Given the description of an element on the screen output the (x, y) to click on. 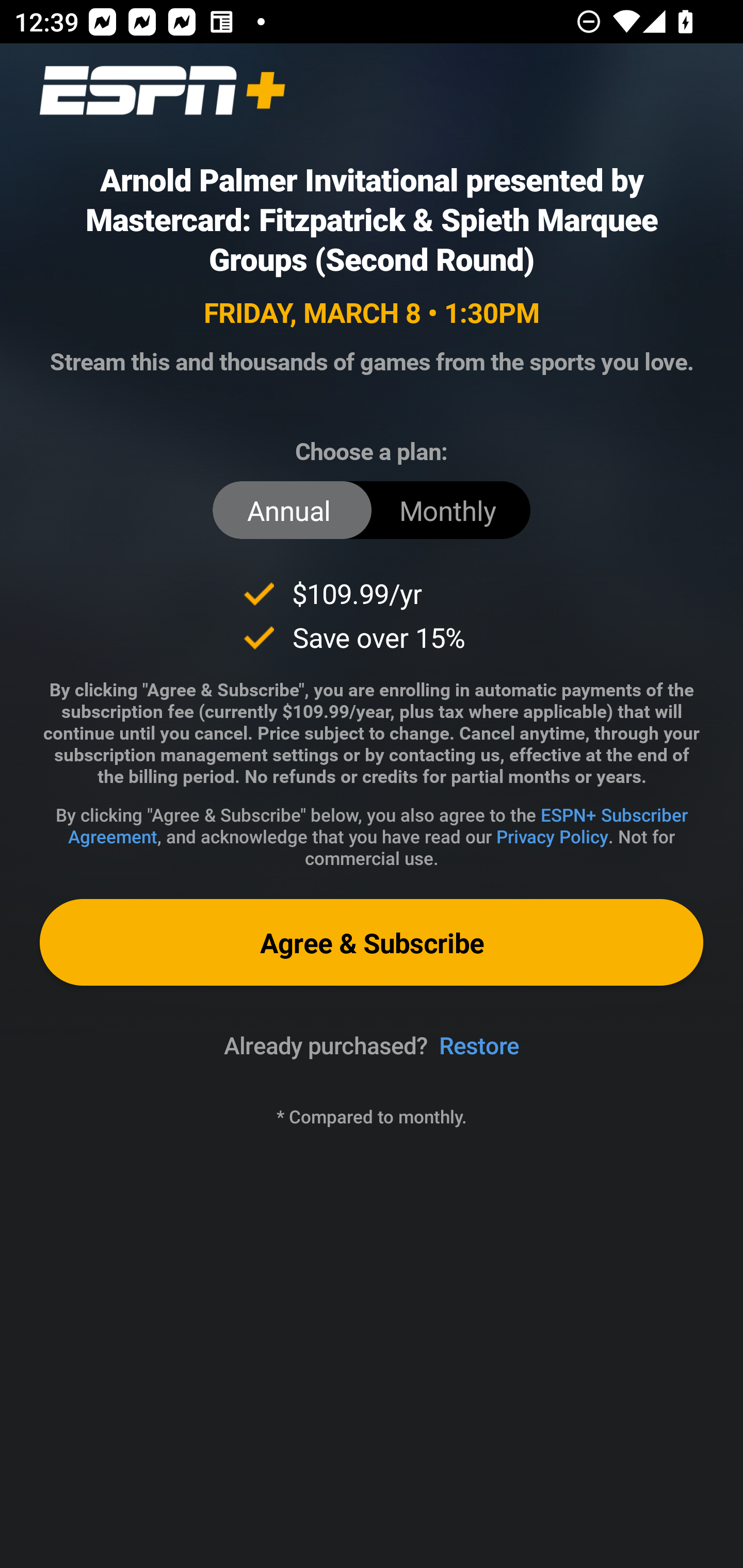
Agree & Subscribe (371, 942)
